Given the description of an element on the screen output the (x, y) to click on. 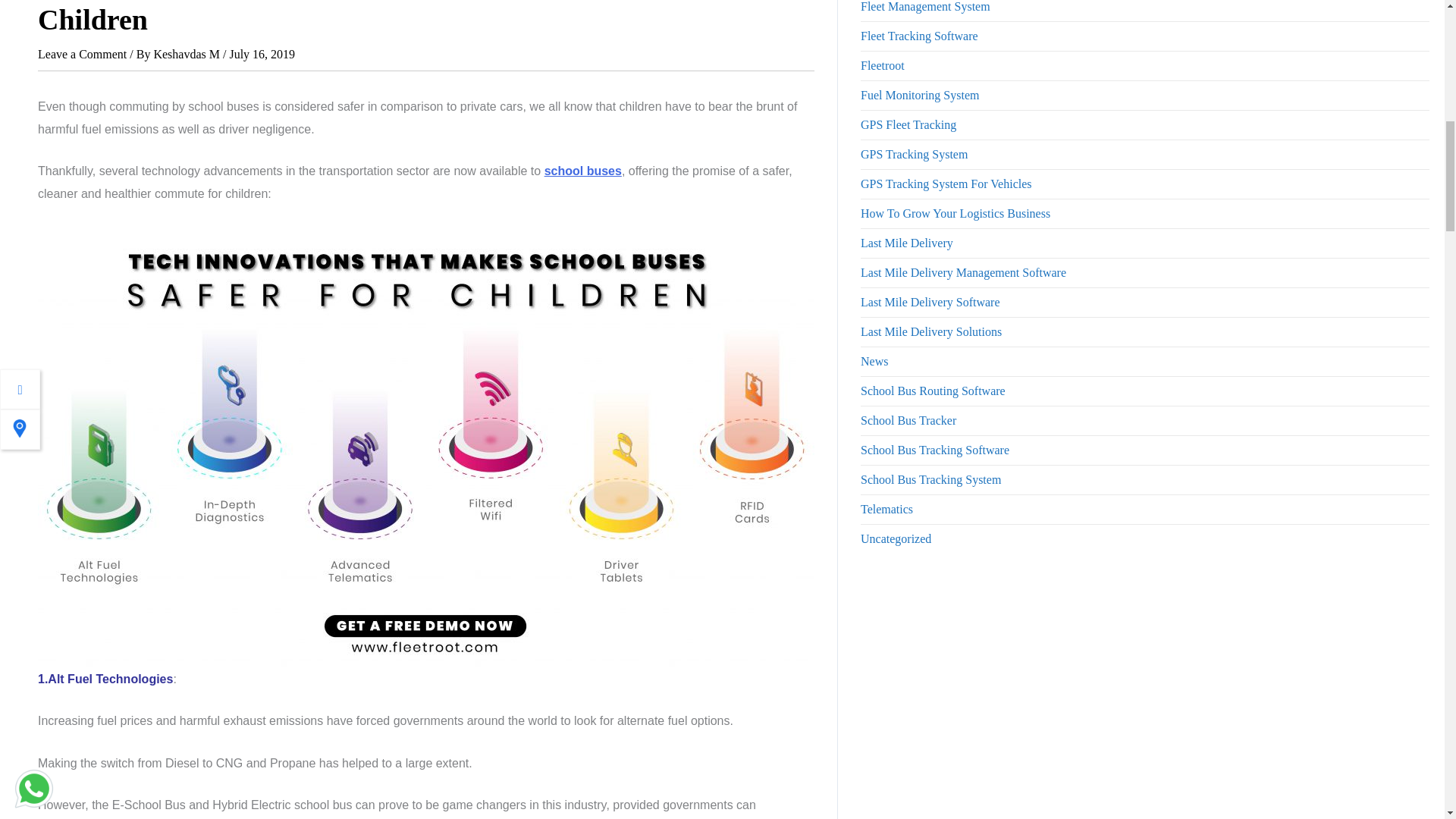
Leave a Comment (81, 53)
View all posts by Keshavdas M (187, 53)
Keshavdas M (187, 53)
school buses (582, 170)
